Given the description of an element on the screen output the (x, y) to click on. 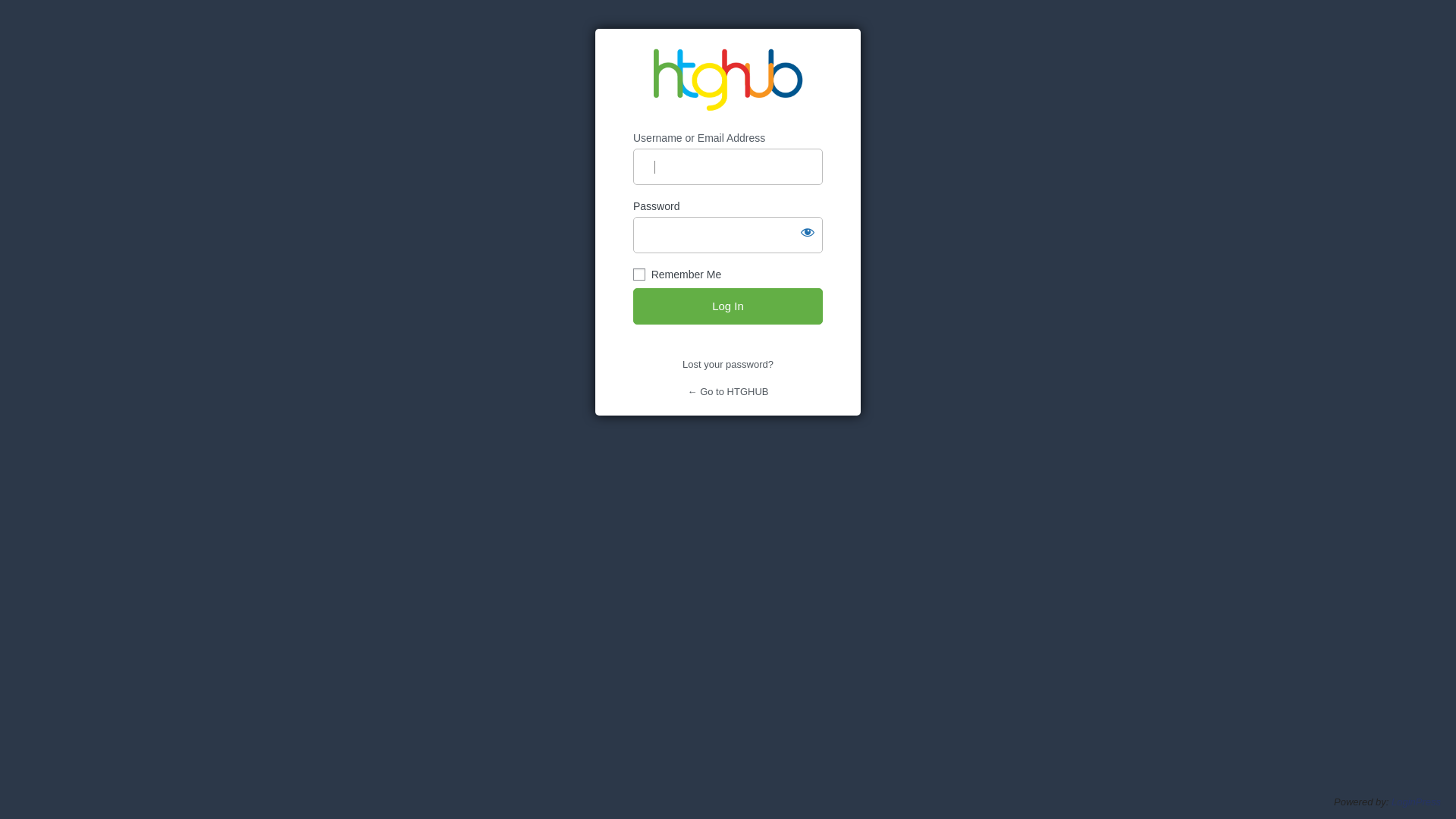
Lost your password? Element type: text (727, 364)
LoginPress Element type: text (1415, 801)
Log In Element type: text (727, 306)
Your Site Name and Info Element type: text (727, 79)
